Given the description of an element on the screen output the (x, y) to click on. 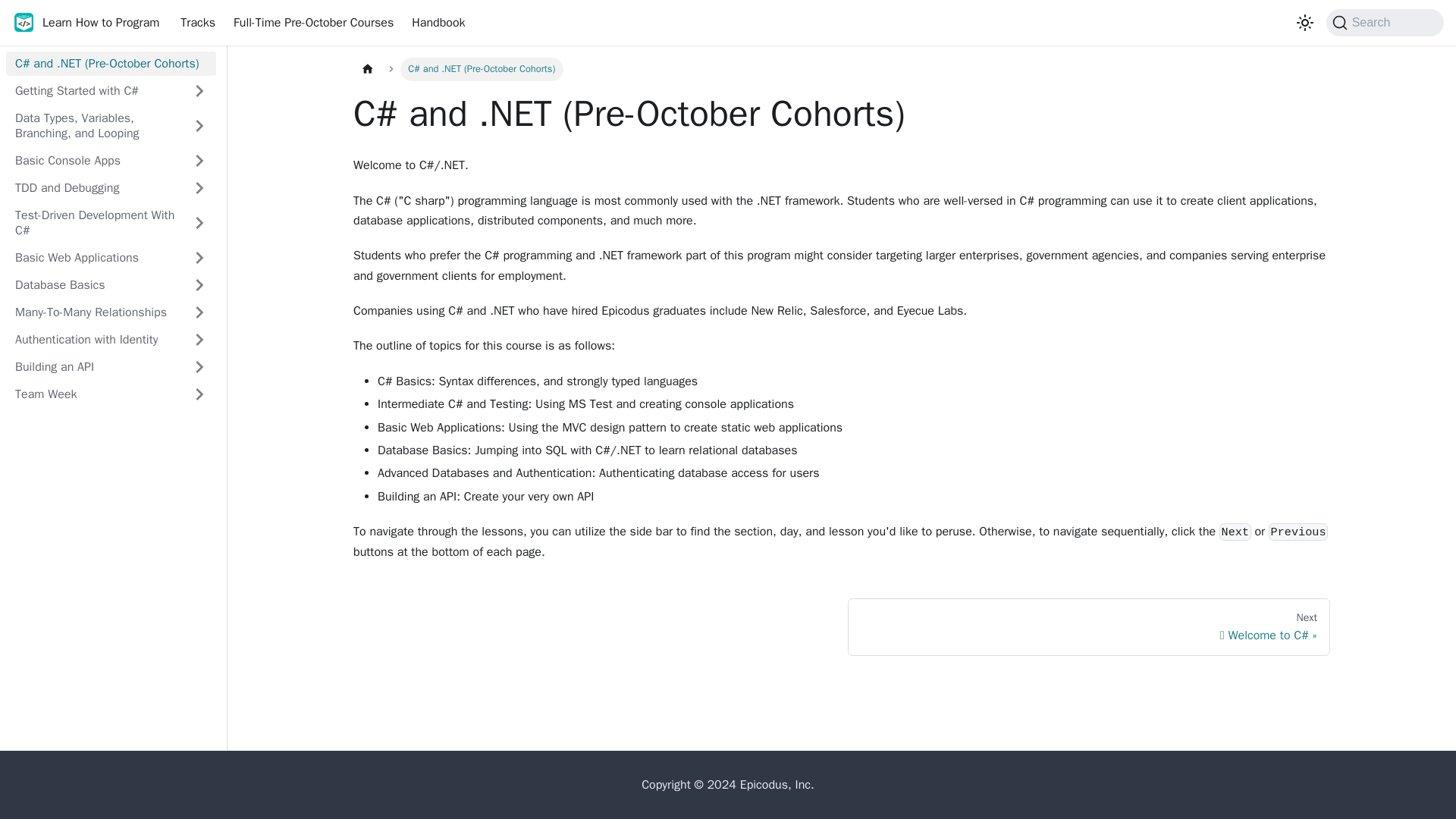
Data Types, Variables, Branching, and Looping (110, 125)
TDD and Debugging (110, 187)
Many-To-Many Relationships (110, 312)
Basic Console Apps (110, 160)
Basic Web Applications (110, 257)
Authentication with Identity (110, 339)
Tracks (197, 22)
Learn How to Program (84, 22)
Full-Time Pre-October Courses (313, 22)
Handbook (438, 22)
